Given the description of an element on the screen output the (x, y) to click on. 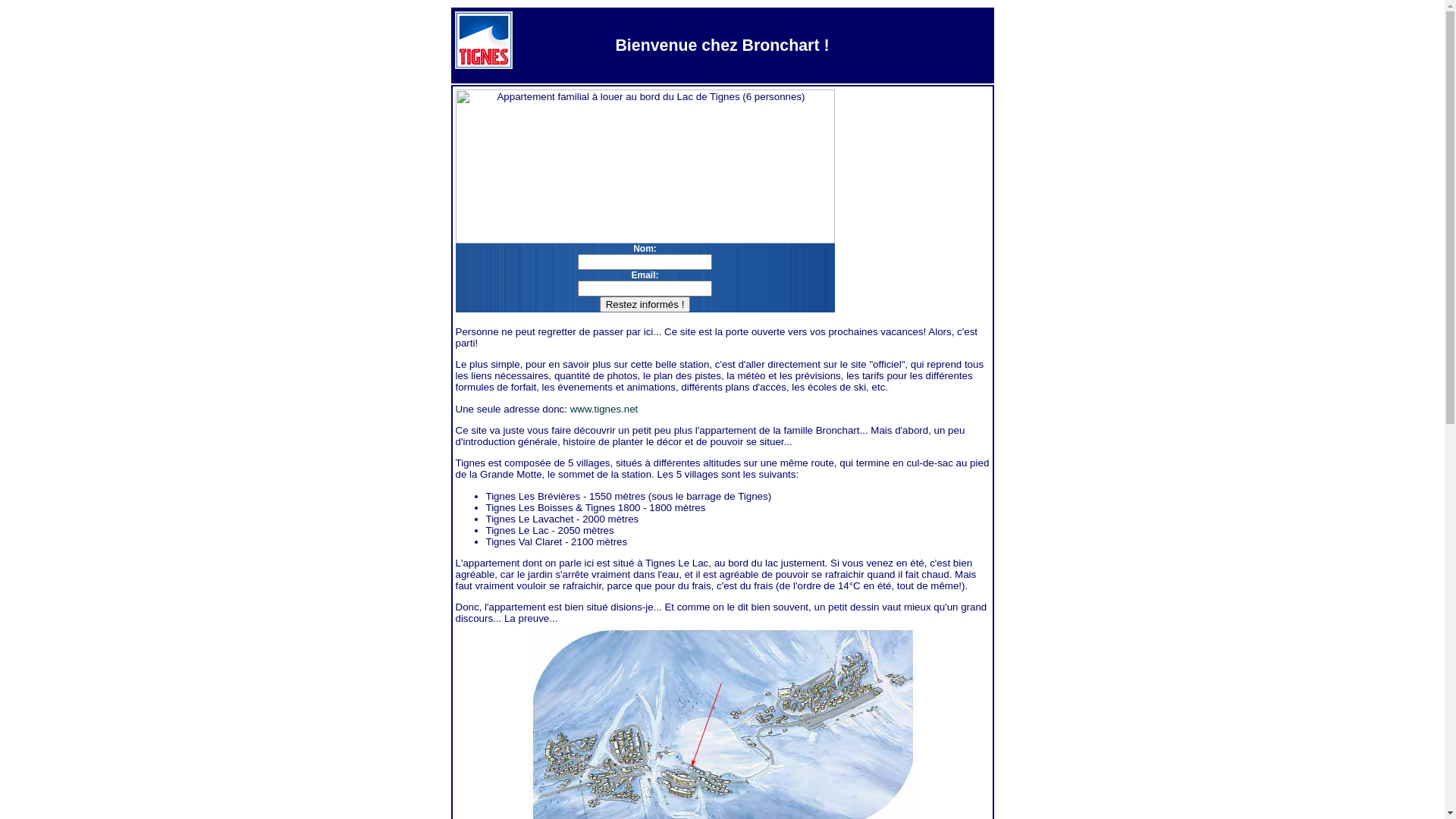
www.tignes.net Element type: text (604, 408)
